Given the description of an element on the screen output the (x, y) to click on. 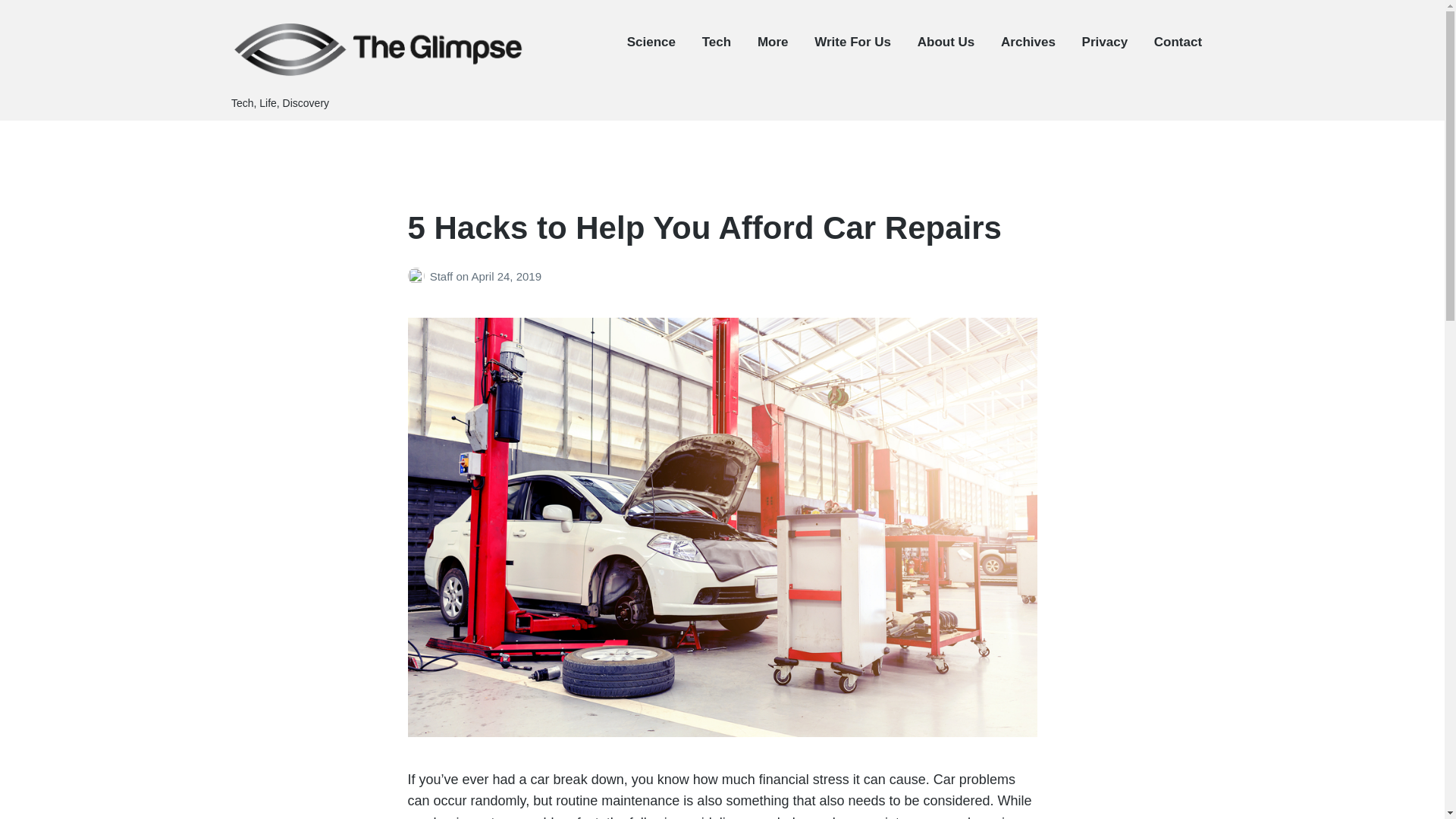
Tech (715, 42)
About Us (946, 42)
Archives (1028, 42)
Science (651, 42)
Posts by Staff (418, 276)
Write For Us (852, 42)
Staff (443, 276)
Contact (1178, 42)
More (773, 42)
Privacy (1104, 42)
